Given the description of an element on the screen output the (x, y) to click on. 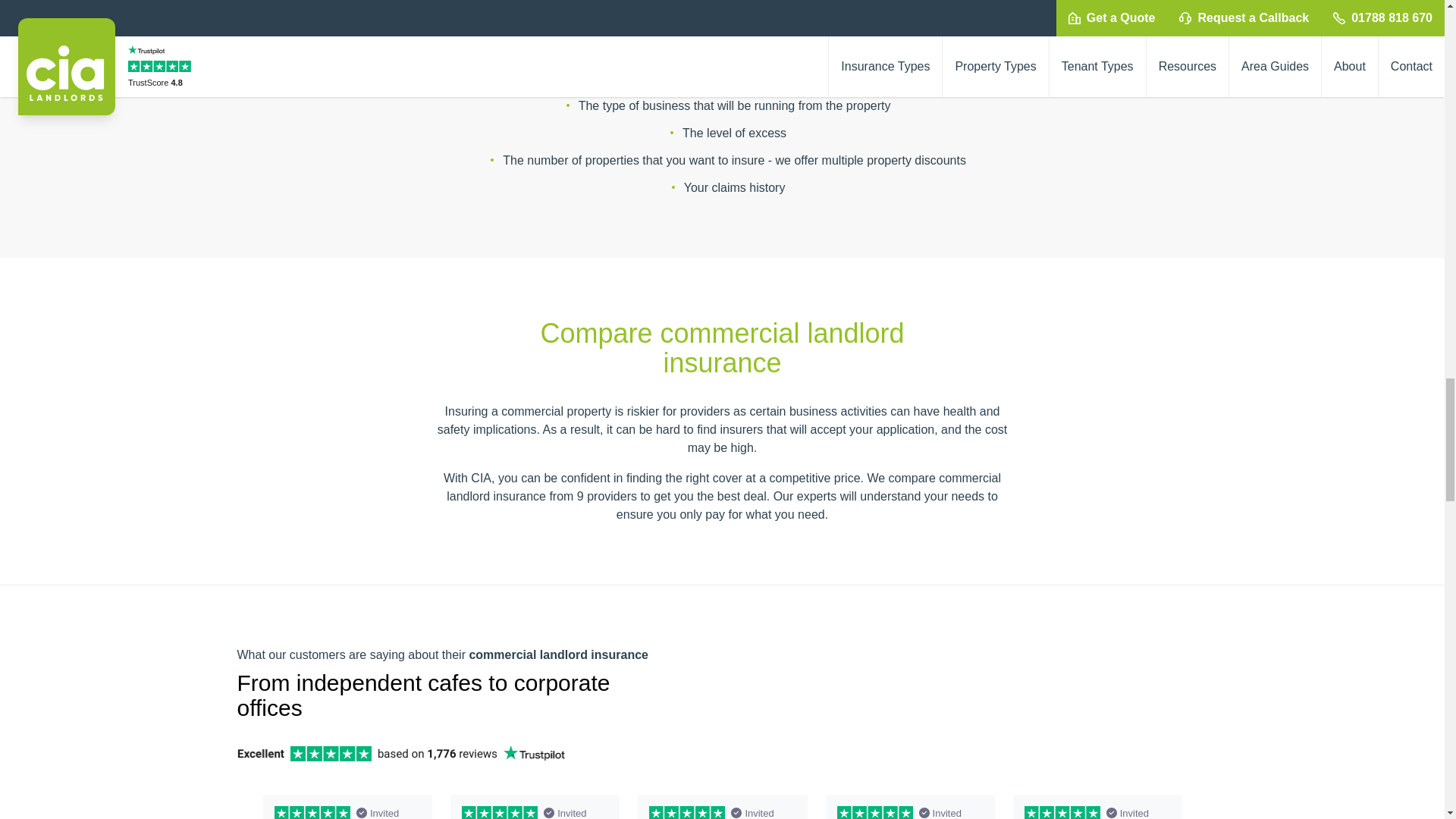
Customer reviews powered by Trustpilot (722, 803)
